Given the description of an element on the screen output the (x, y) to click on. 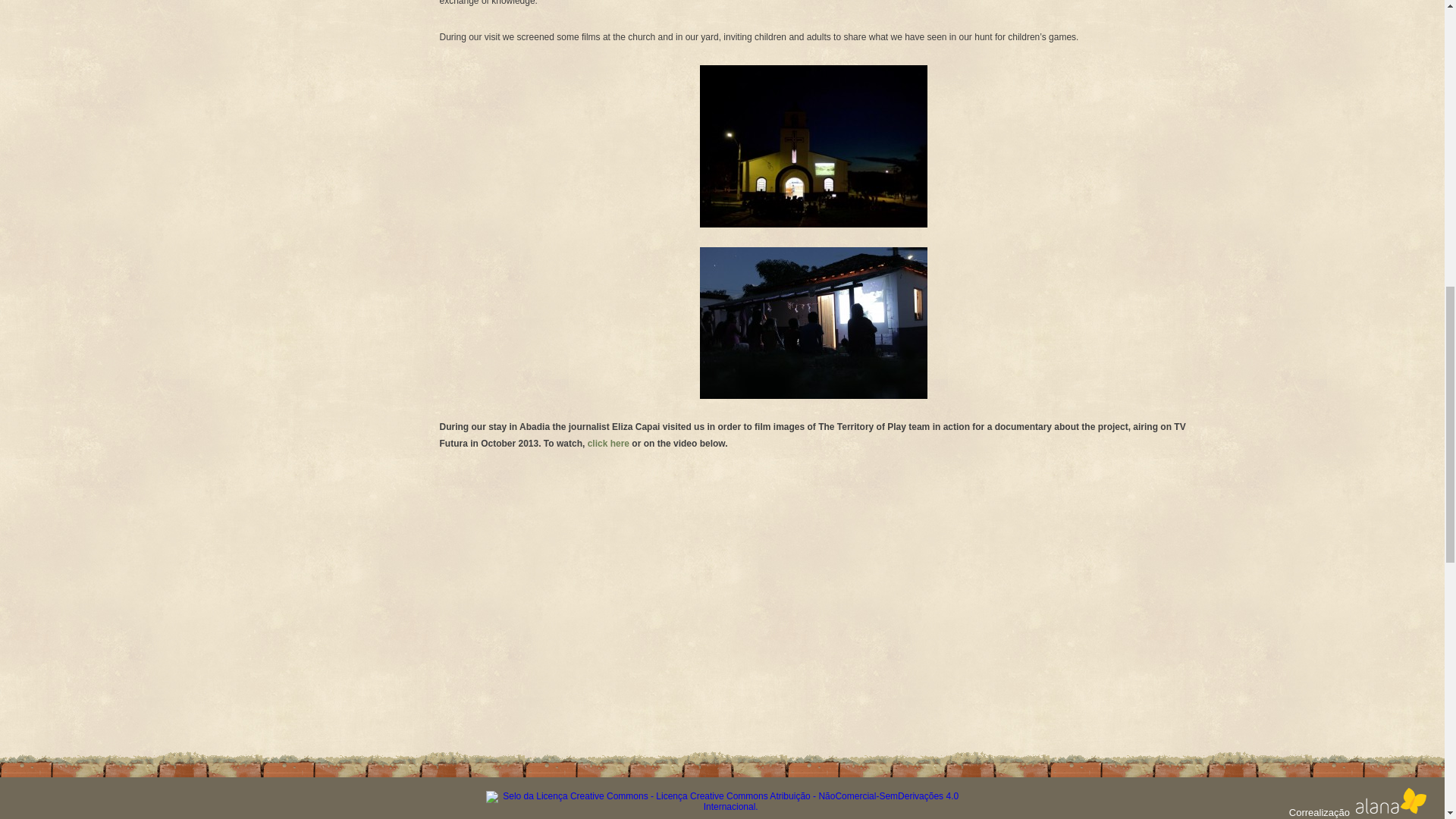
click here (608, 443)
